Given the description of an element on the screen output the (x, y) to click on. 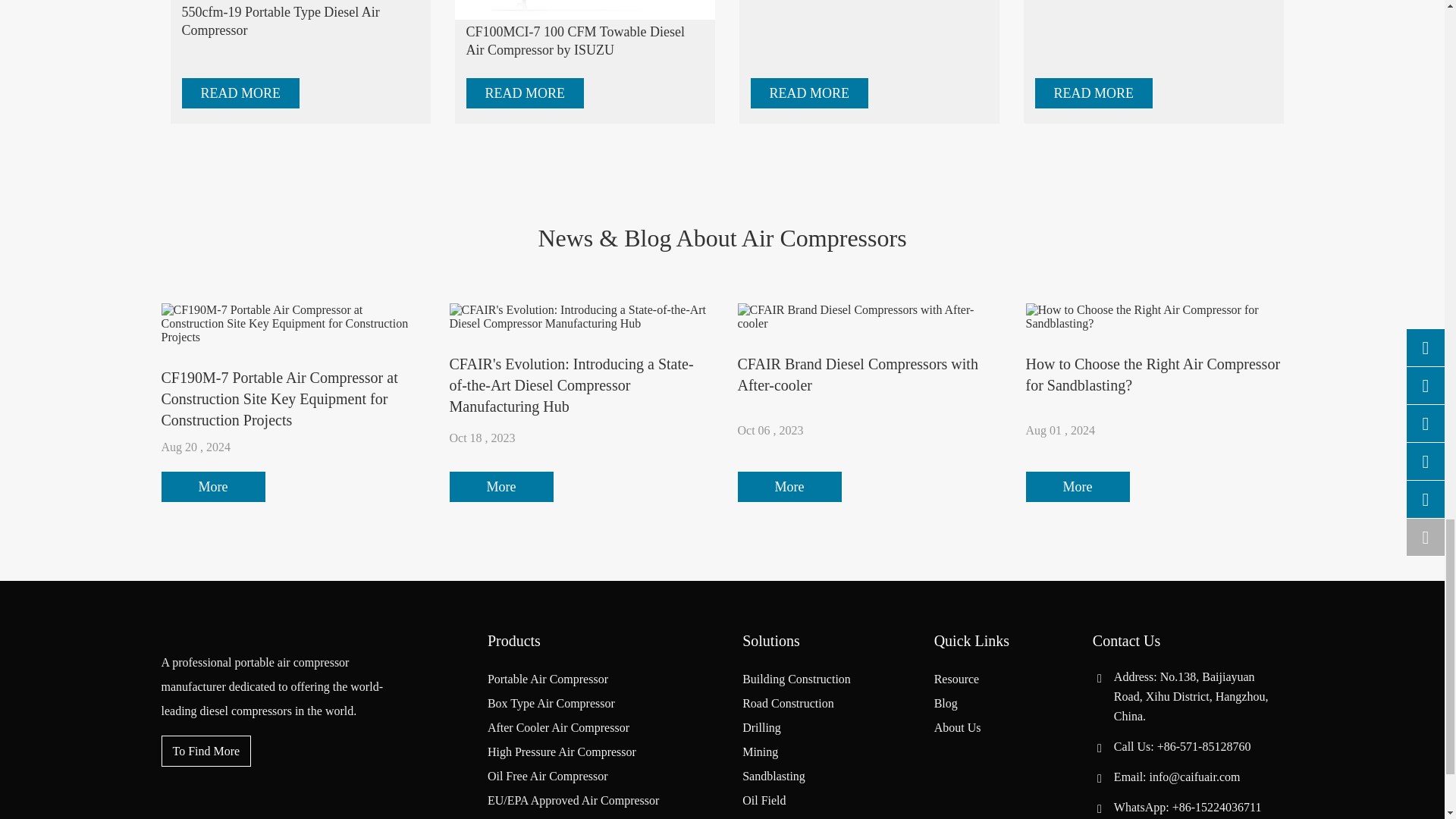
CFAIR Brand Diesel Compressors with After-cooler (865, 316)
CF100MCI-7 100 CFM Towable Diesel Air Compressor by ISUZU (584, 9)
